Given the description of an element on the screen output the (x, y) to click on. 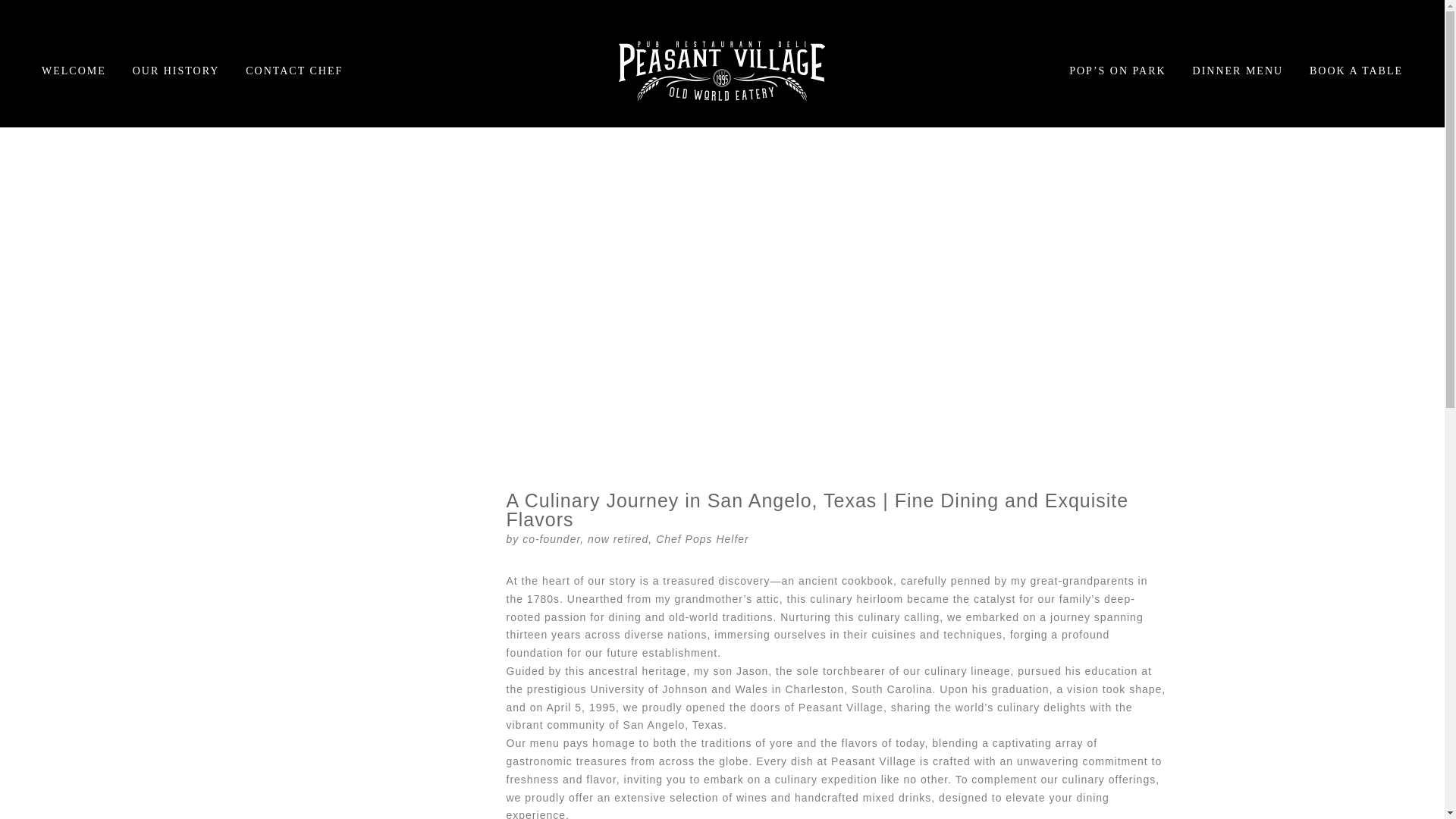
OUR HISTORY (175, 70)
DINNER MENU (1237, 70)
WELCOME (79, 70)
CONTACT CHEF (293, 70)
BOOK A TABLE (1350, 70)
